Given the description of an element on the screen output the (x, y) to click on. 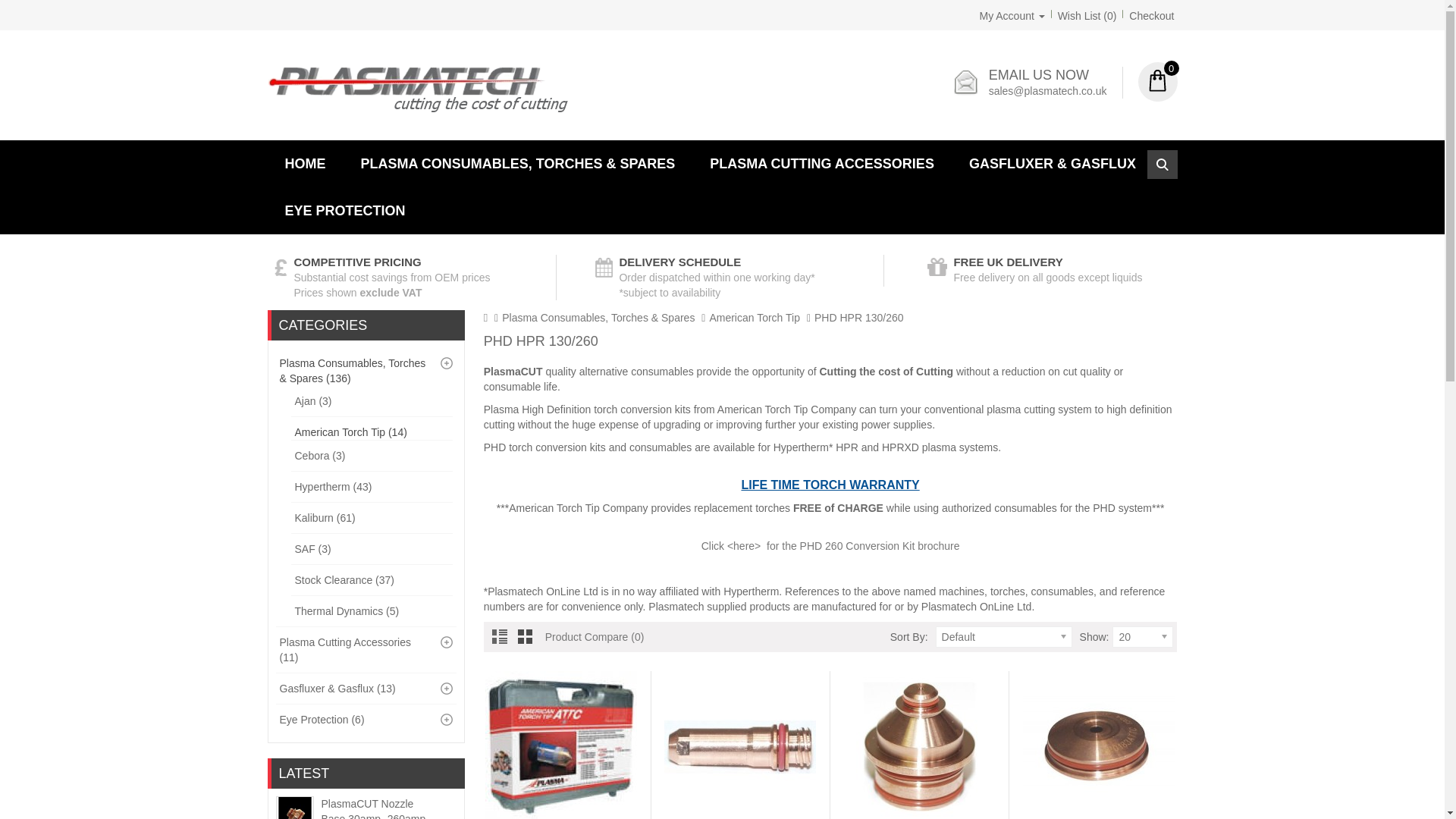
Checkout (1151, 15)
PlasmaCUT Nozzle Base 30amp- 260amp PH22001 (376, 808)
HOME (304, 163)
Plasmatech OnLine Ltd. (417, 89)
My Account (1012, 15)
My Account (1012, 15)
PLASMA CUTTING ACCESSORIES (822, 163)
SEARCH (1161, 164)
0 (1156, 81)
Checkout (1151, 15)
PlasmaCUT Nozzle Base 30amp- 260amp PH22001 (294, 807)
